Given the description of an element on the screen output the (x, y) to click on. 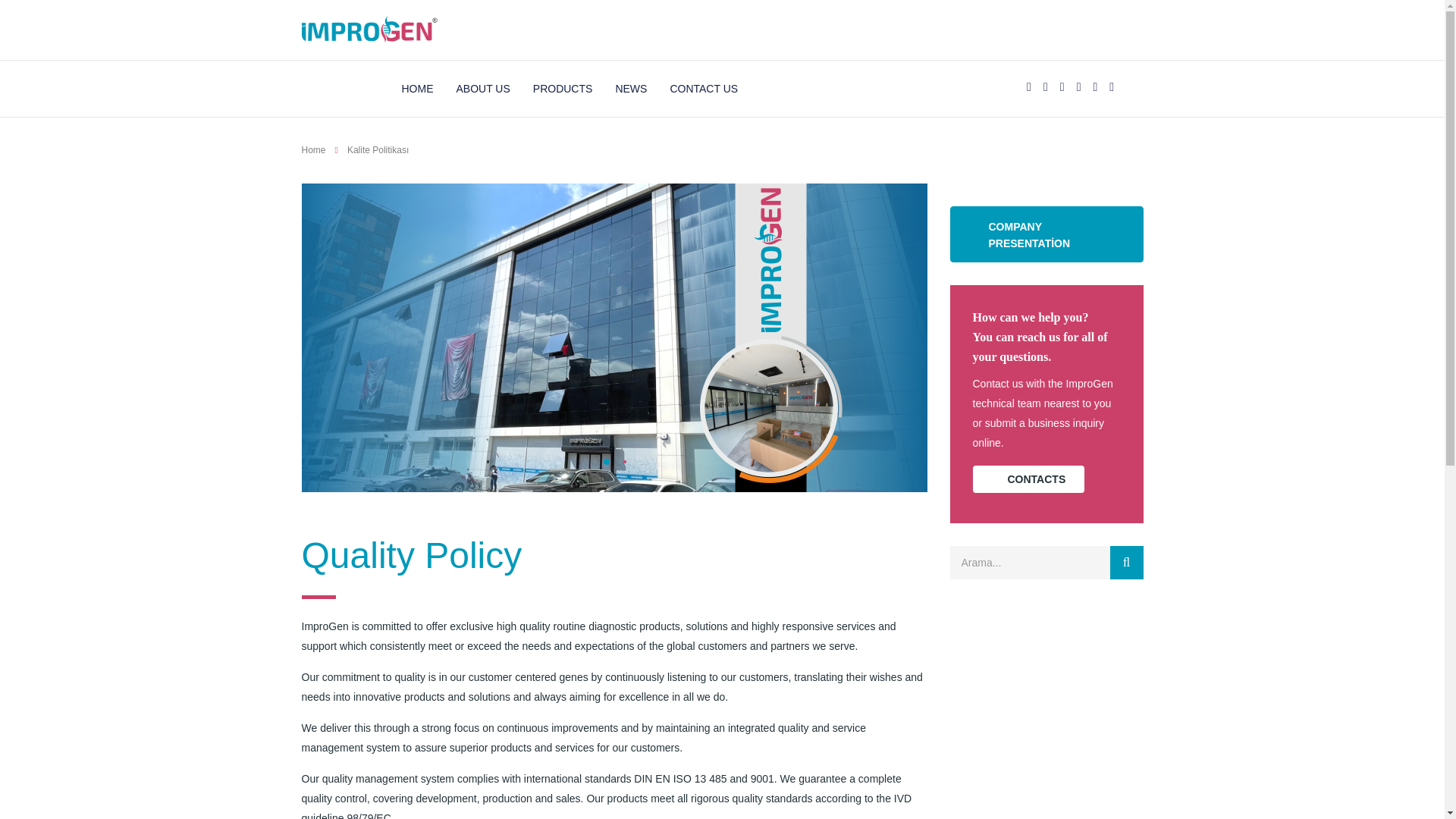
CONTACTS (1028, 479)
Go to ImproGen Diagnostic Chem. (313, 149)
ImproGen General Catalogue (1045, 234)
COMPANY PRESENTATION (1045, 234)
CONTACT US (703, 88)
PRODUCTS (562, 88)
Contact Us (1028, 479)
ABOUT US (484, 88)
Home (313, 149)
